Given the description of an element on the screen output the (x, y) to click on. 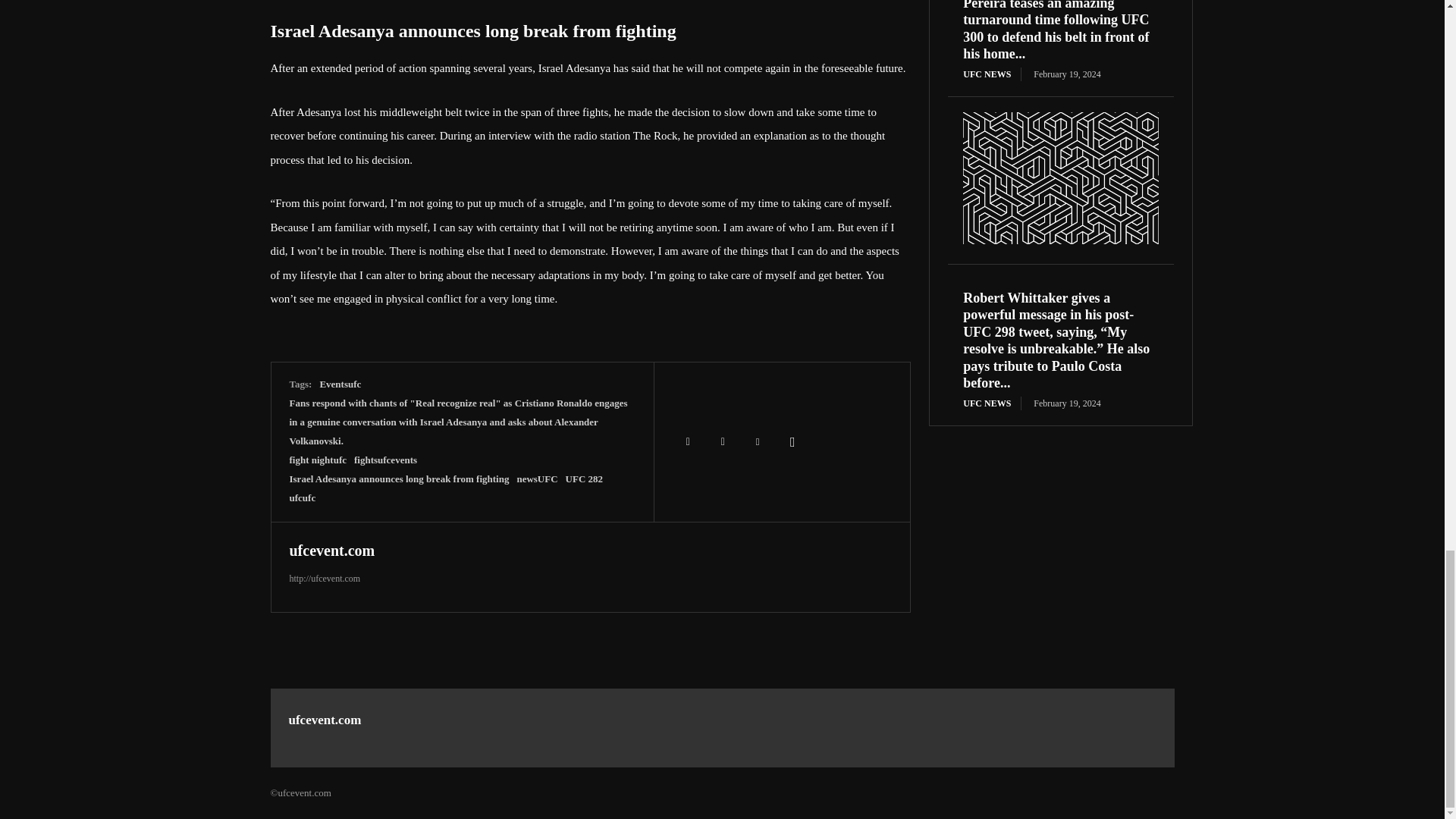
Pinterest (757, 440)
Facebook (687, 440)
Twitter (722, 440)
